Given the description of an element on the screen output the (x, y) to click on. 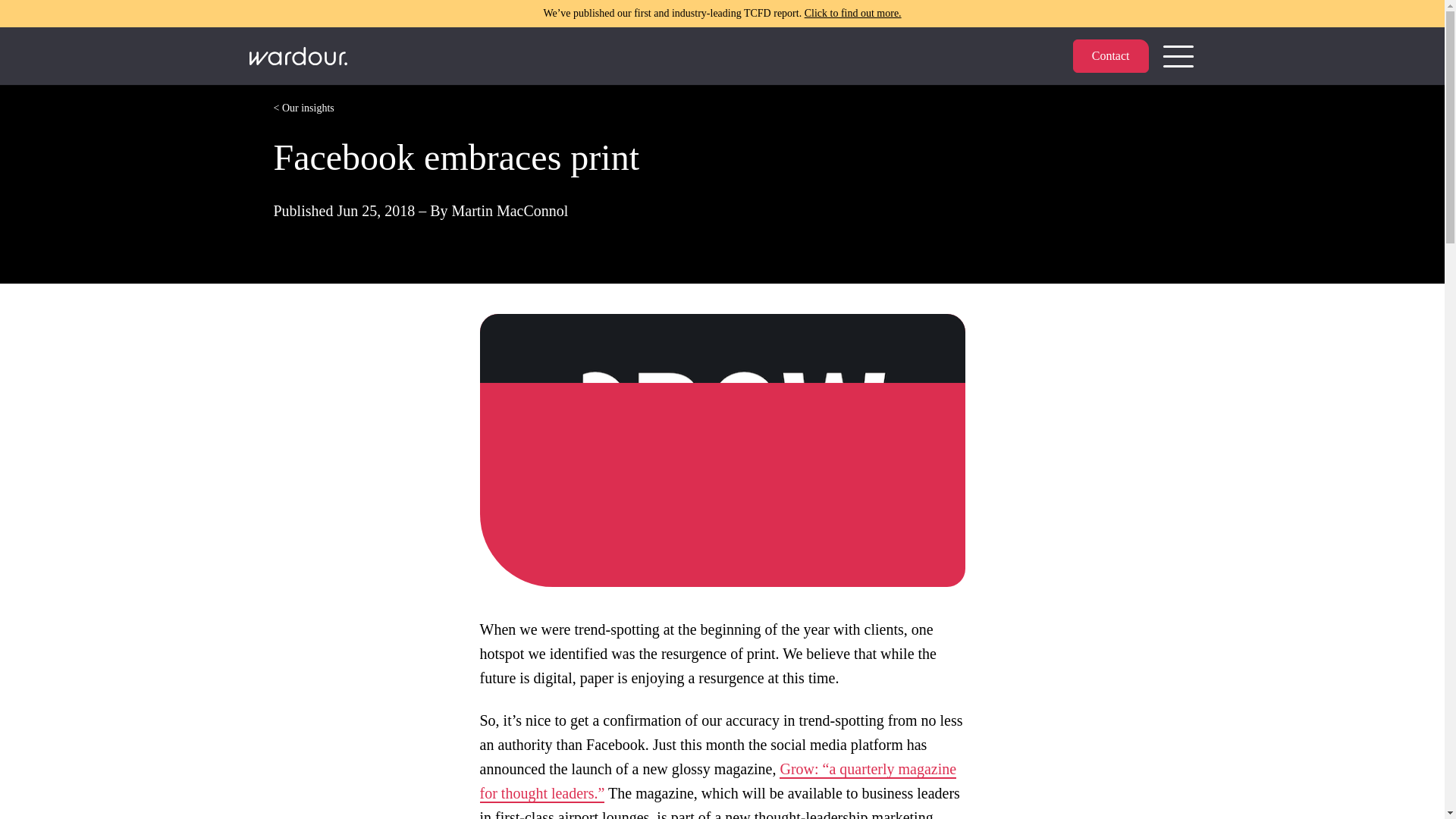
Contact (1110, 55)
Click to find out more. (853, 12)
